Given the description of an element on the screen output the (x, y) to click on. 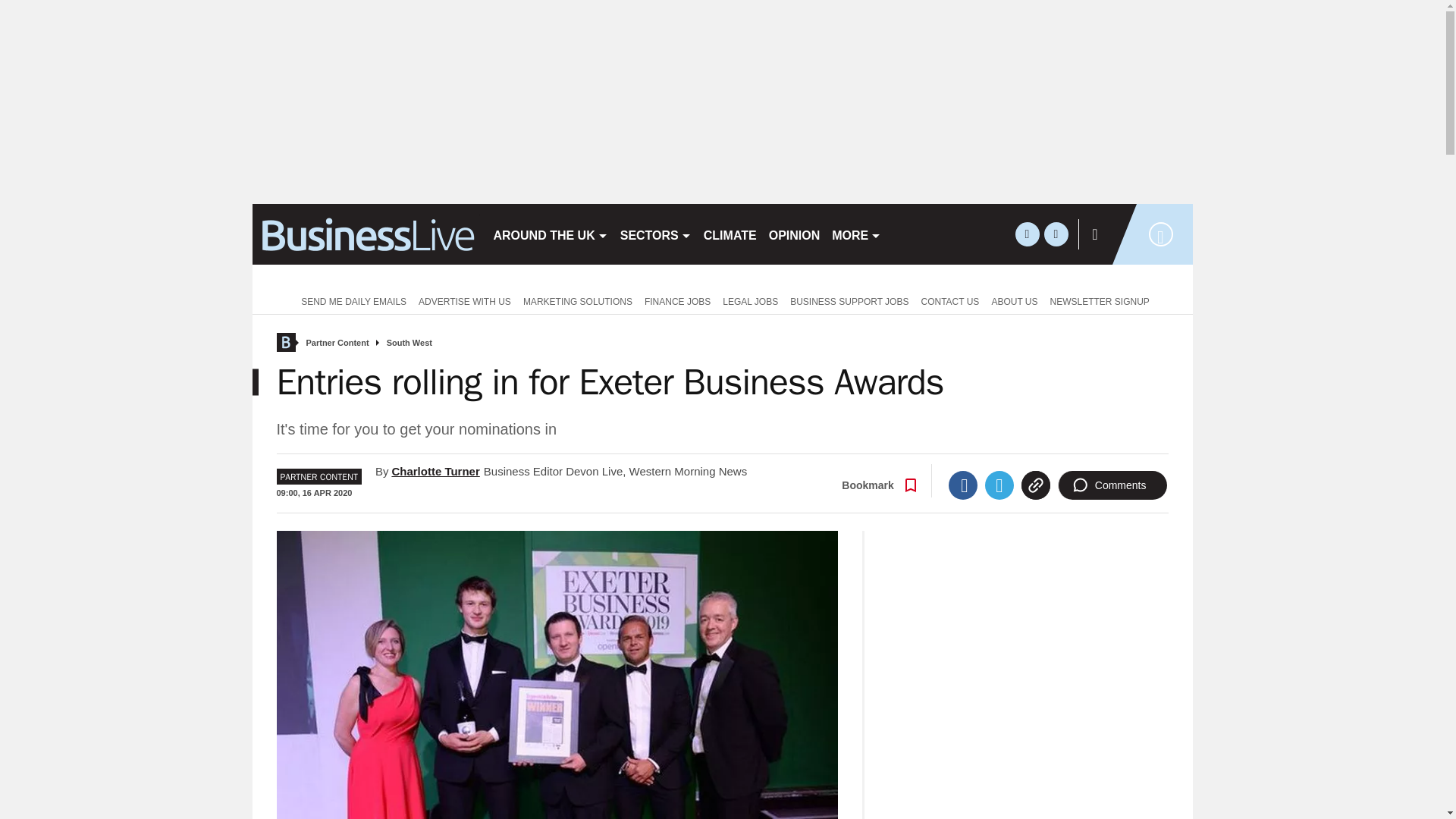
ADVERTISE WITH US (464, 300)
twitter (1026, 233)
CLIMATE (729, 233)
MARKETING SOLUTIONS (577, 300)
Twitter (999, 484)
linkedin (1055, 233)
SEND ME DAILY EMAILS (350, 300)
MORE (855, 233)
FINANCE JOBS (677, 300)
Comments (1112, 484)
